Given the description of an element on the screen output the (x, y) to click on. 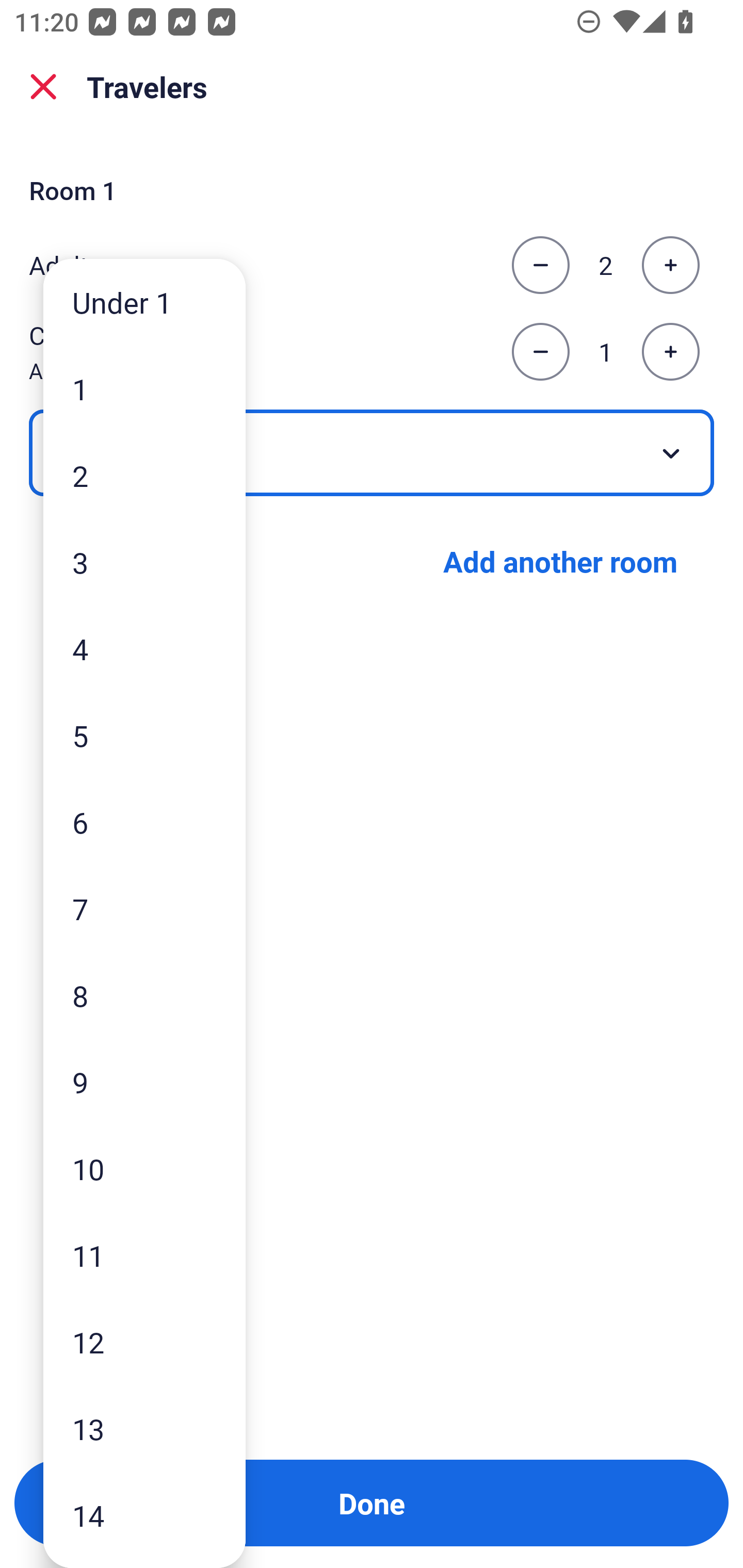
Under 1 (144, 301)
1 (144, 388)
2 (144, 475)
3 (144, 562)
4 (144, 648)
5 (144, 735)
6 (144, 822)
7 (144, 908)
8 (144, 994)
9 (144, 1081)
10 (144, 1168)
11 (144, 1255)
12 (144, 1342)
13 (144, 1429)
14 (144, 1515)
